Given the description of an element on the screen output the (x, y) to click on. 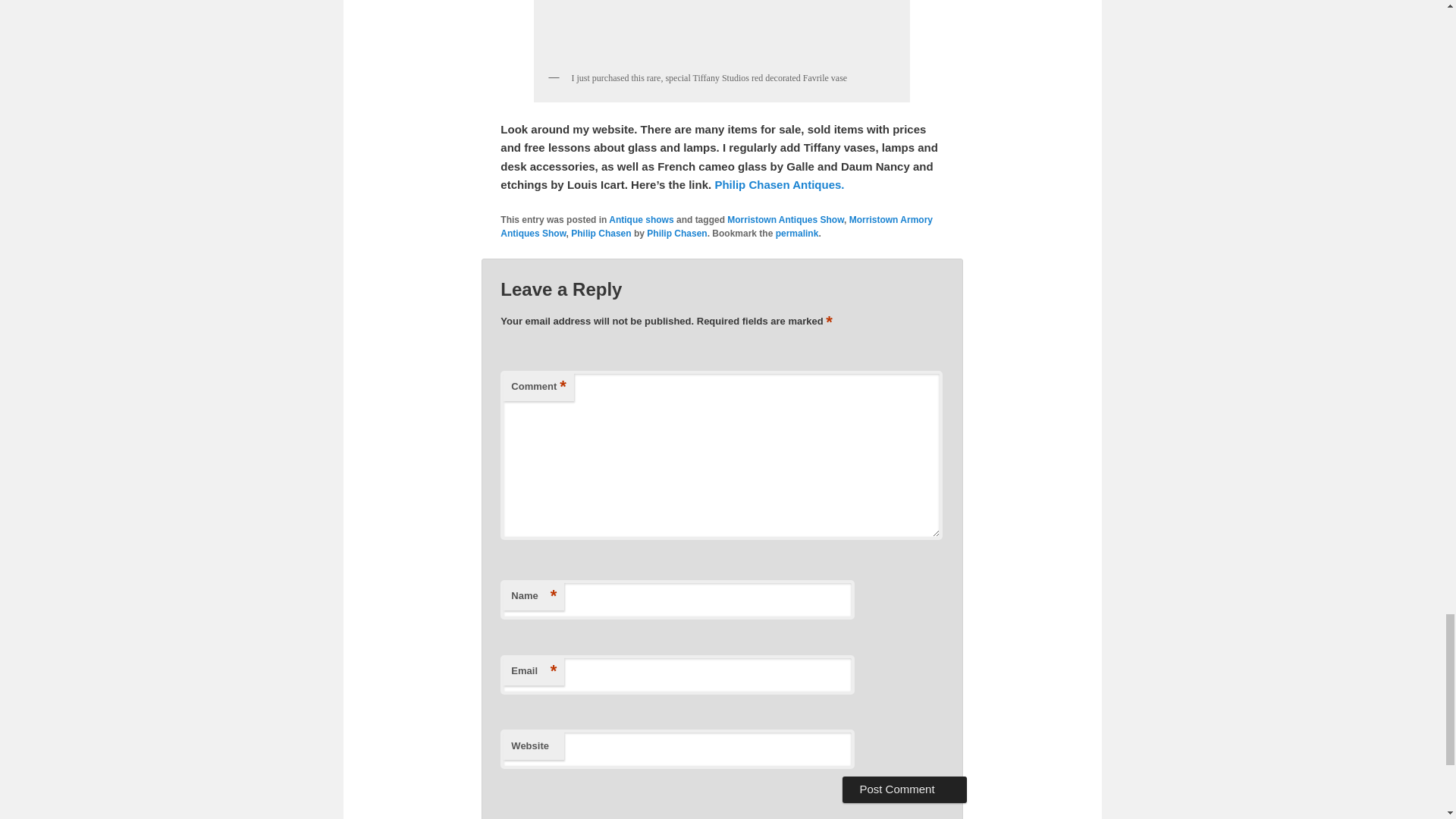
Philip Chasen (600, 233)
Antique shows (640, 219)
Morristown Antiques Show (785, 219)
Philip Chasen Antiques. (779, 184)
Morristown Armory Antiques Show (716, 226)
permalink (797, 233)
Philip Chasen (676, 233)
tiffany-red-dec-vase (721, 31)
Post Comment (904, 789)
Post Comment (904, 789)
